Given the description of an element on the screen output the (x, y) to click on. 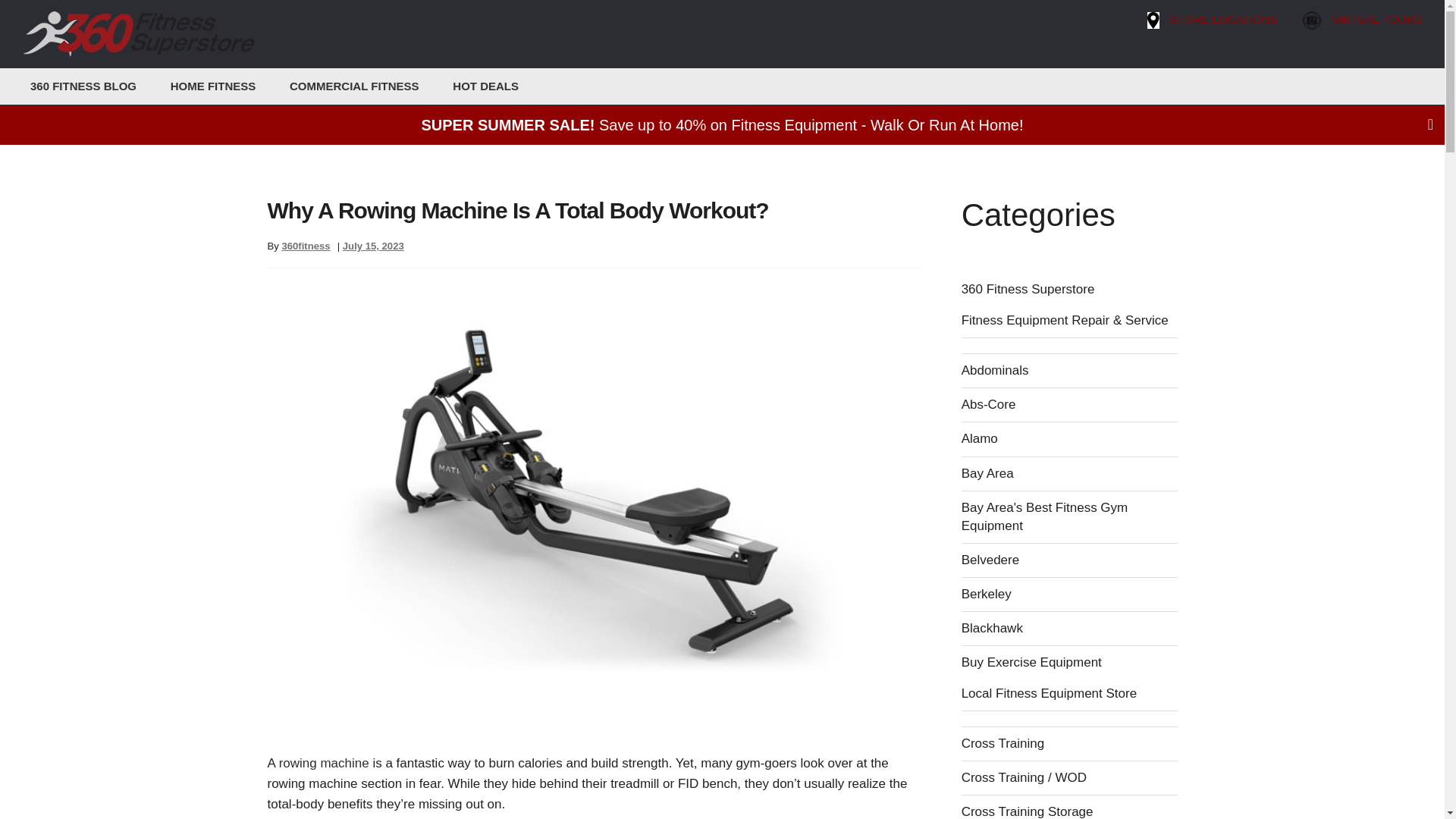
360 FITNESS BLOG (79, 85)
VIRTUAL TOURS (1372, 19)
HOME FITNESS (197, 85)
STORE LOCATIONS (1222, 19)
